Given the description of an element on the screen output the (x, y) to click on. 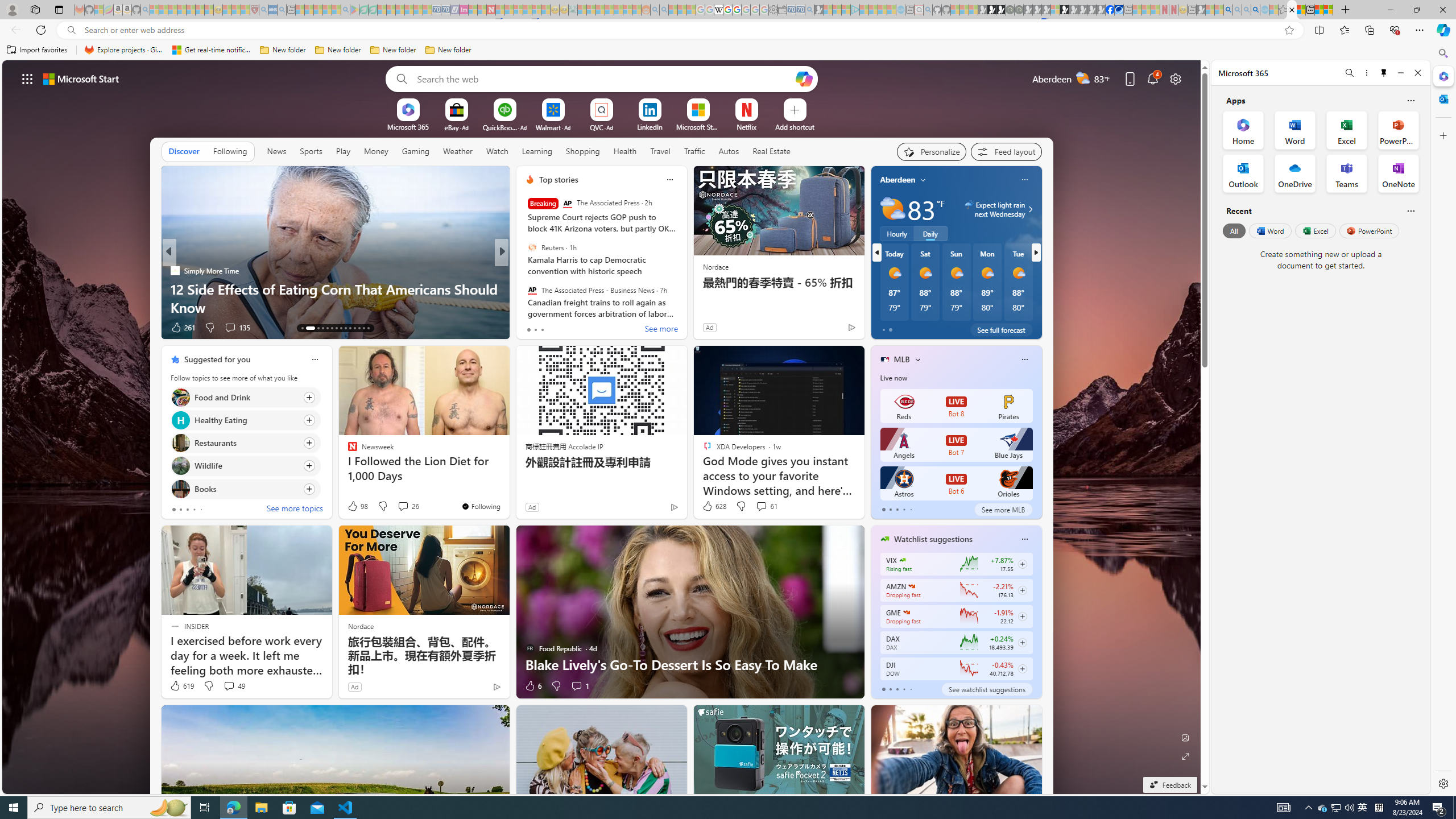
previous (876, 252)
Discover (183, 151)
Aberdeen (897, 179)
View comments 81 Comment (585, 327)
Body Network (524, 270)
AutomationID: tab-15 (314, 328)
Watch (497, 151)
github - Search - Sleeping (927, 9)
News (276, 151)
AutomationID: tab-13 (301, 328)
